Given the description of an element on the screen output the (x, y) to click on. 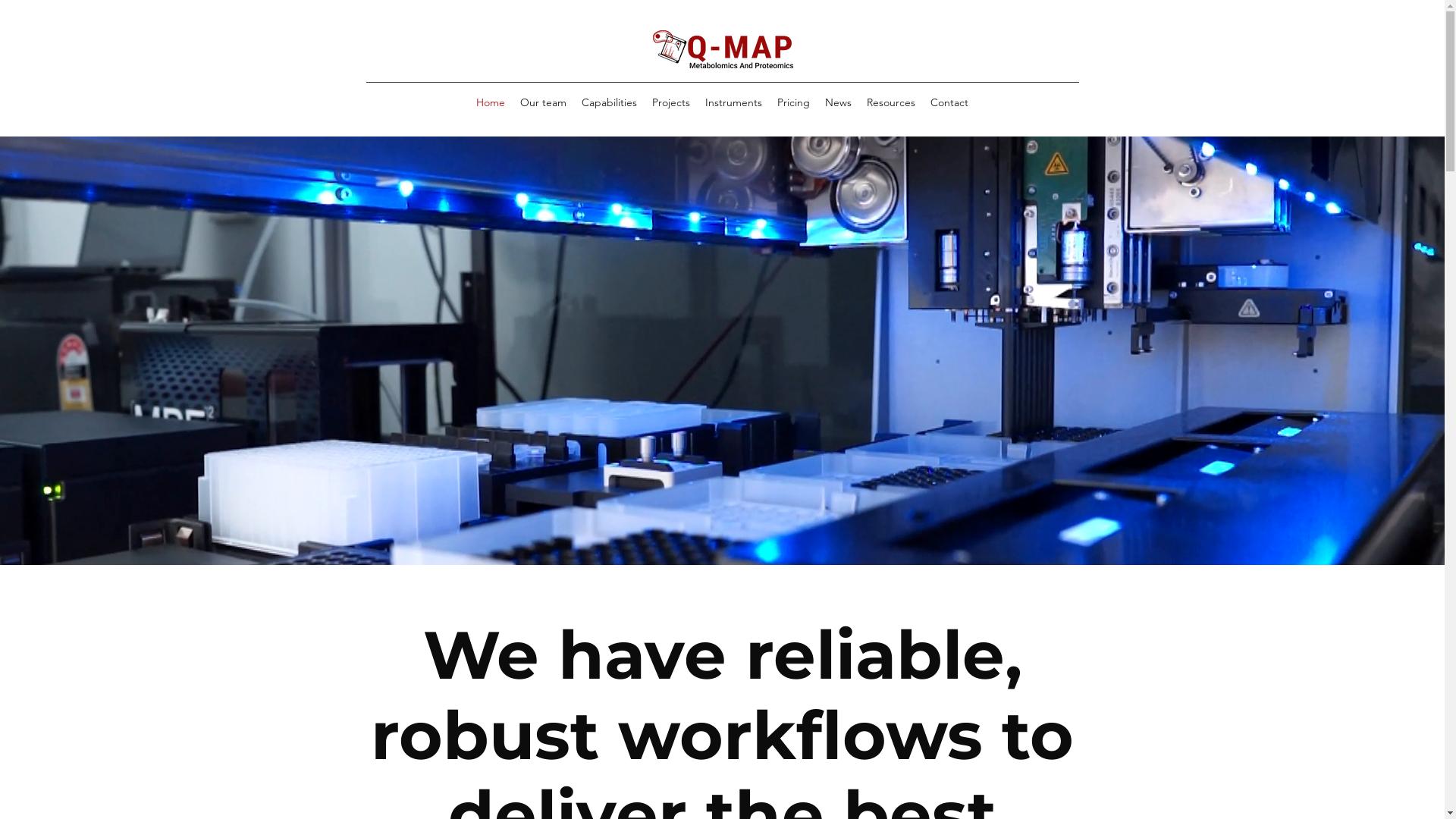
News Element type: text (838, 102)
Instruments Element type: text (733, 102)
Projects Element type: text (670, 102)
Capabilities Element type: text (609, 102)
Our team Element type: text (543, 102)
Home Element type: text (490, 102)
Resources Element type: text (890, 102)
Contact Element type: text (948, 102)
Pricing Element type: text (793, 102)
